Given the description of an element on the screen output the (x, y) to click on. 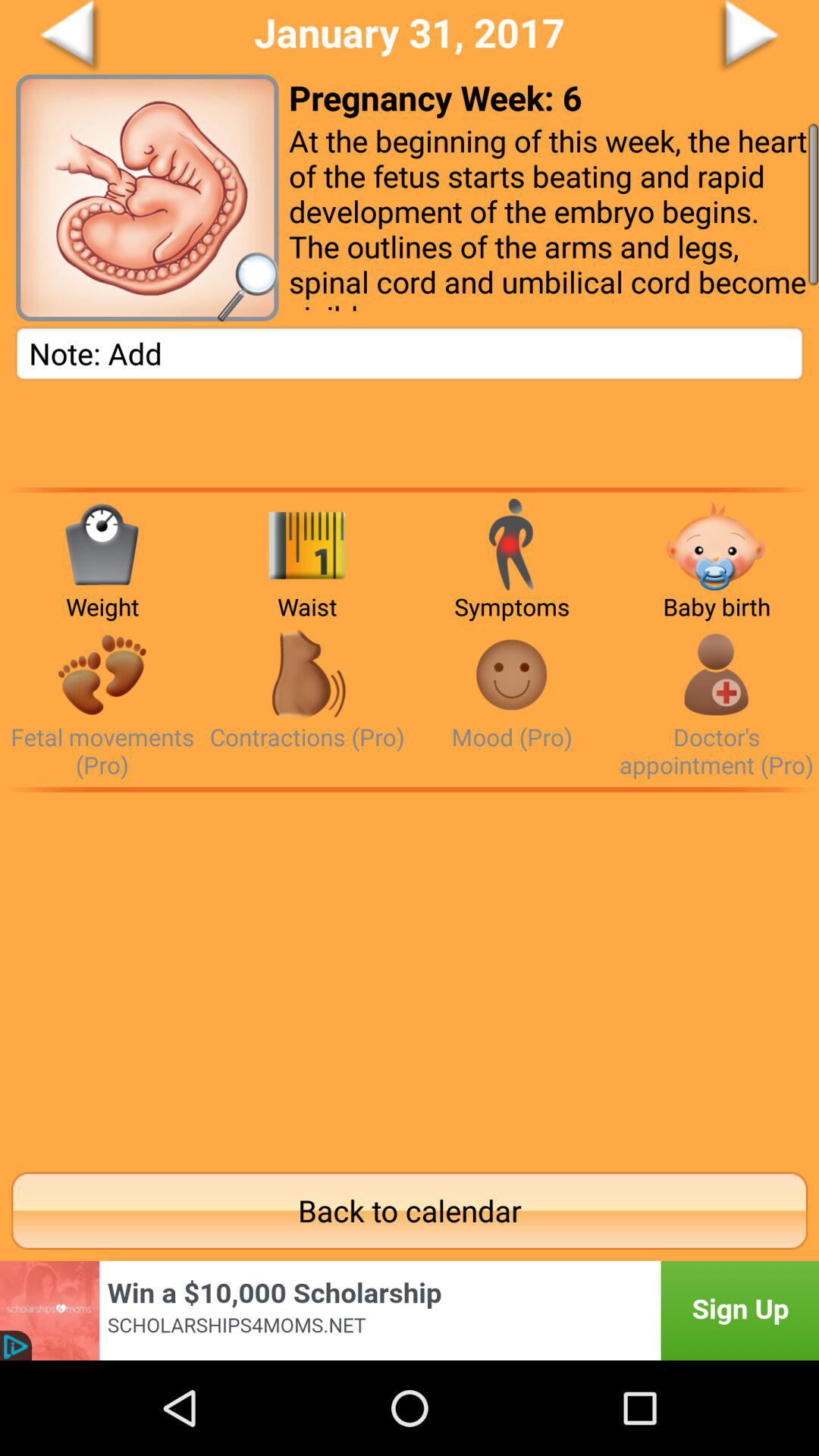
a go forward button (691, 37)
